Given the description of an element on the screen output the (x, y) to click on. 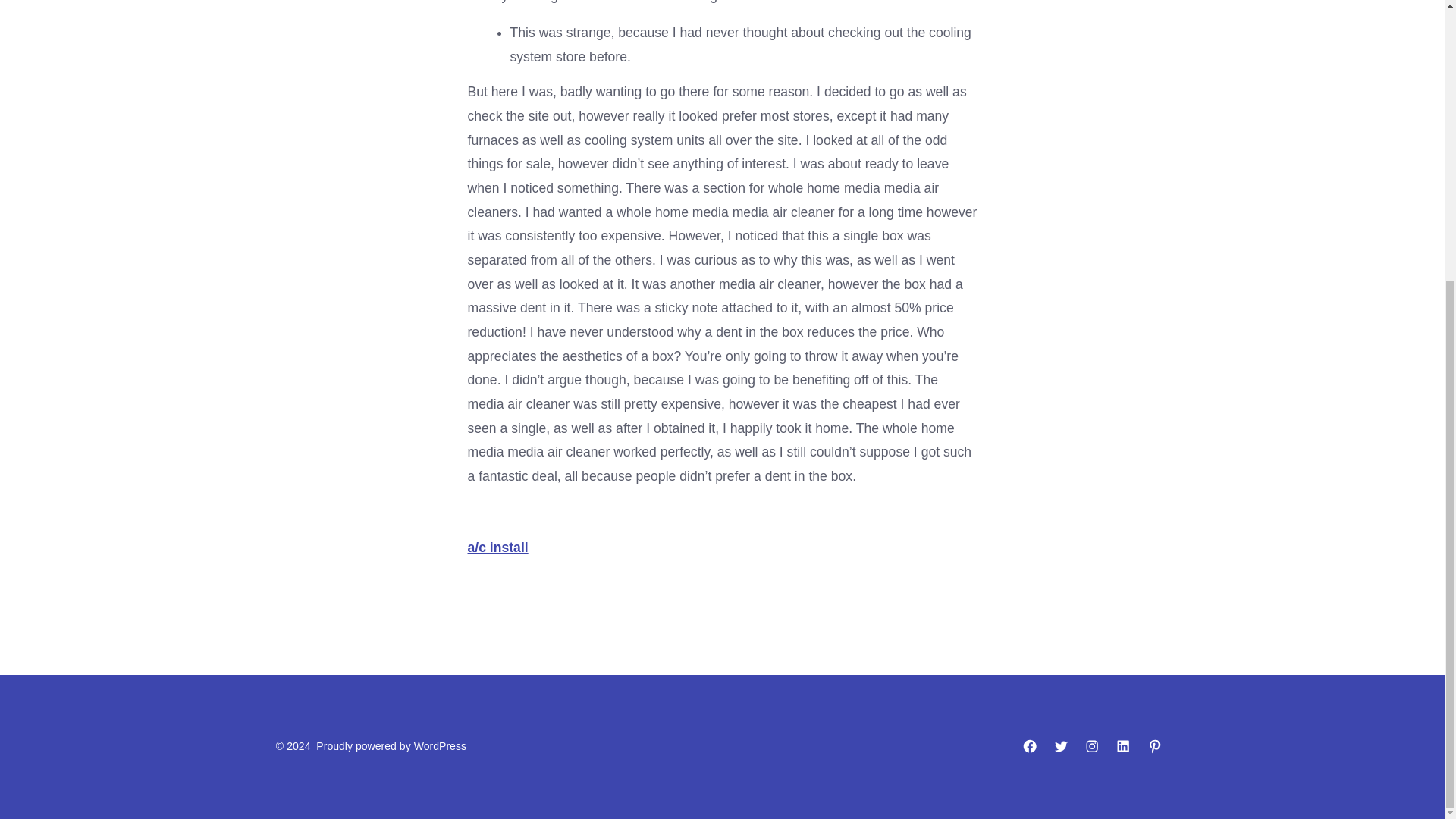
Open Pinterest in a new tab (1155, 746)
Open LinkedIn in a new tab (1123, 746)
Open Twitter in a new tab (1060, 746)
Open Instagram in a new tab (1091, 746)
Open Facebook in a new tab (1029, 746)
